Given the description of an element on the screen output the (x, y) to click on. 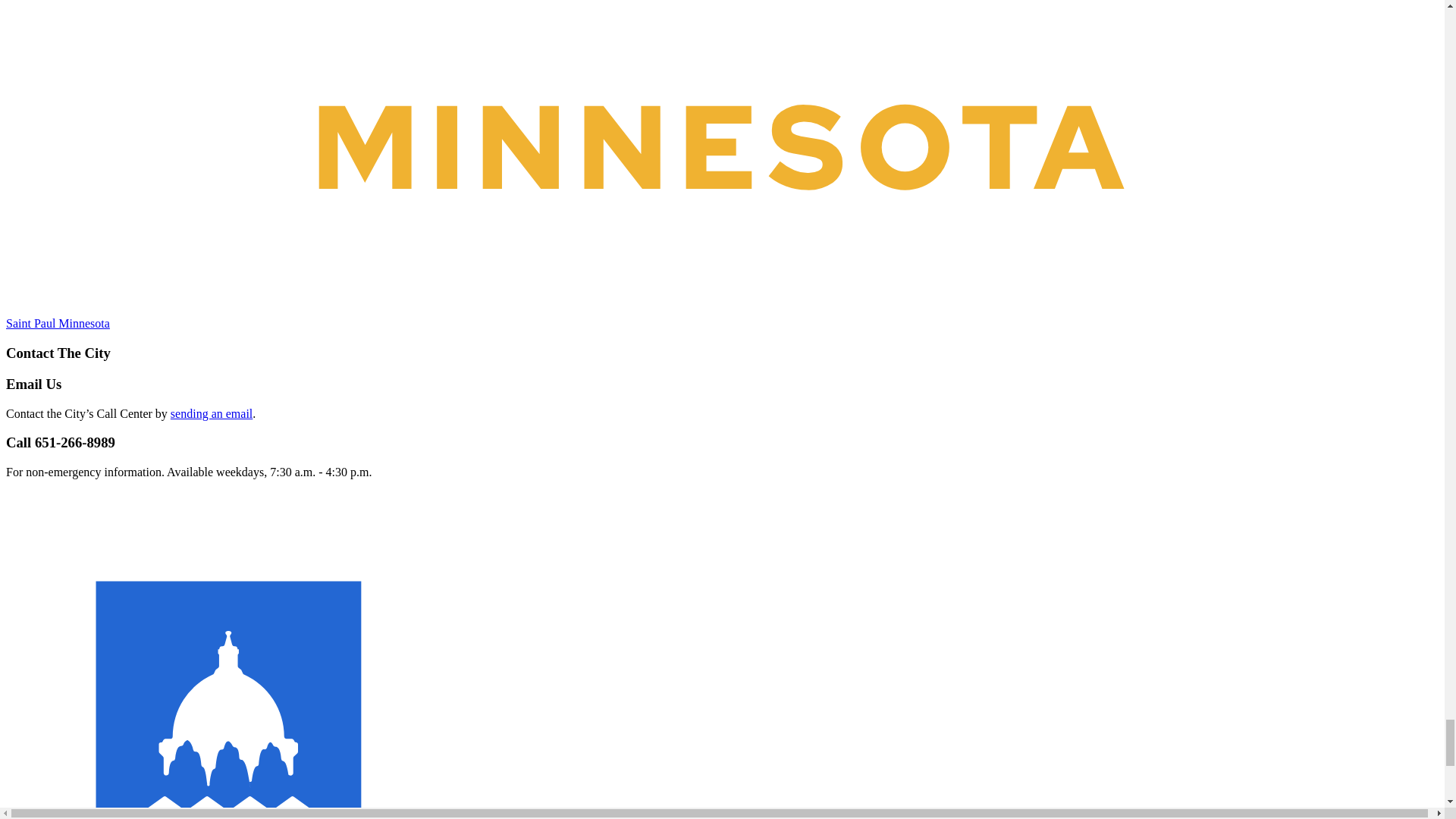
Home (721, 316)
